Given the description of an element on the screen output the (x, y) to click on. 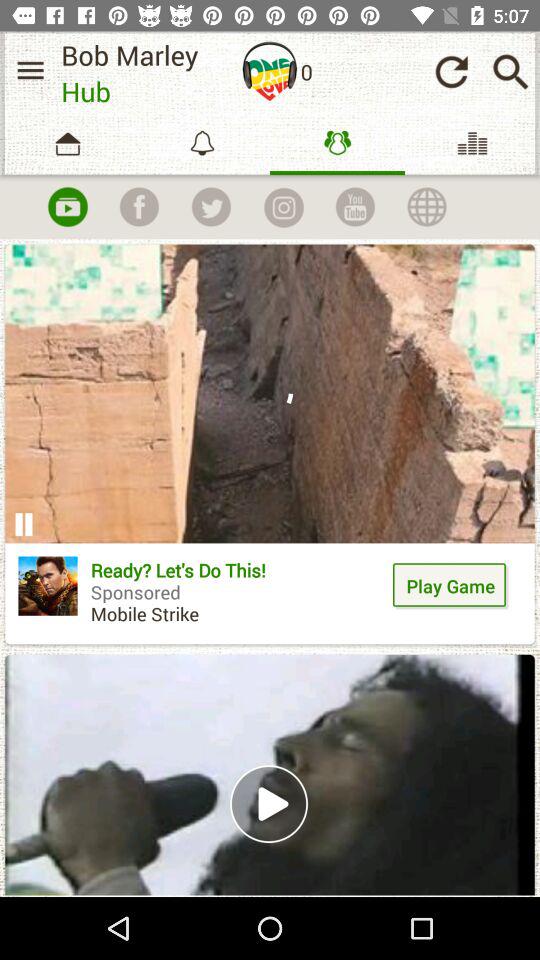
youtube (355, 207)
